Given the description of an element on the screen output the (x, y) to click on. 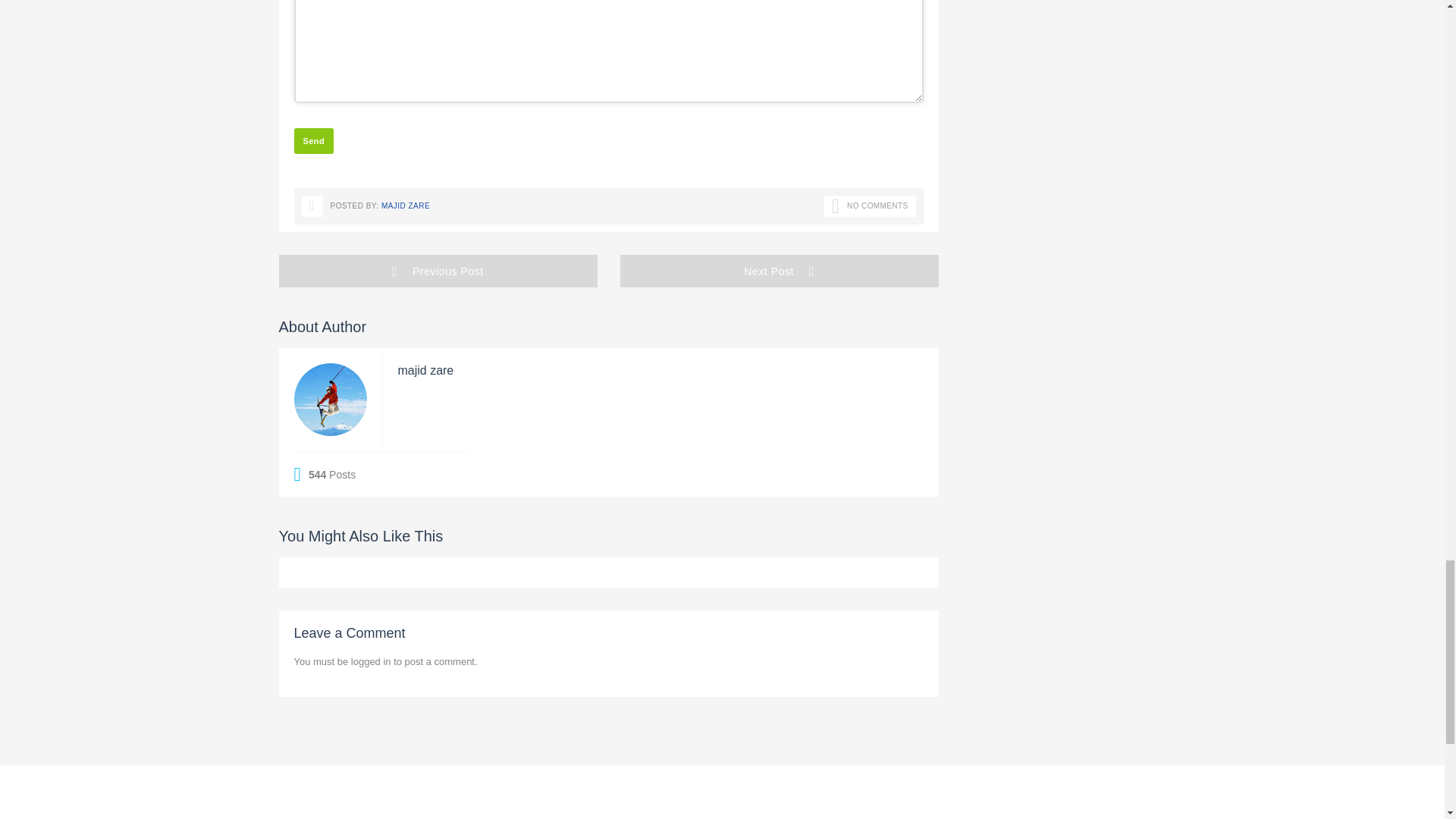
Posts by majid zare (424, 369)
Posts by majid zare (405, 205)
